Given the description of an element on the screen output the (x, y) to click on. 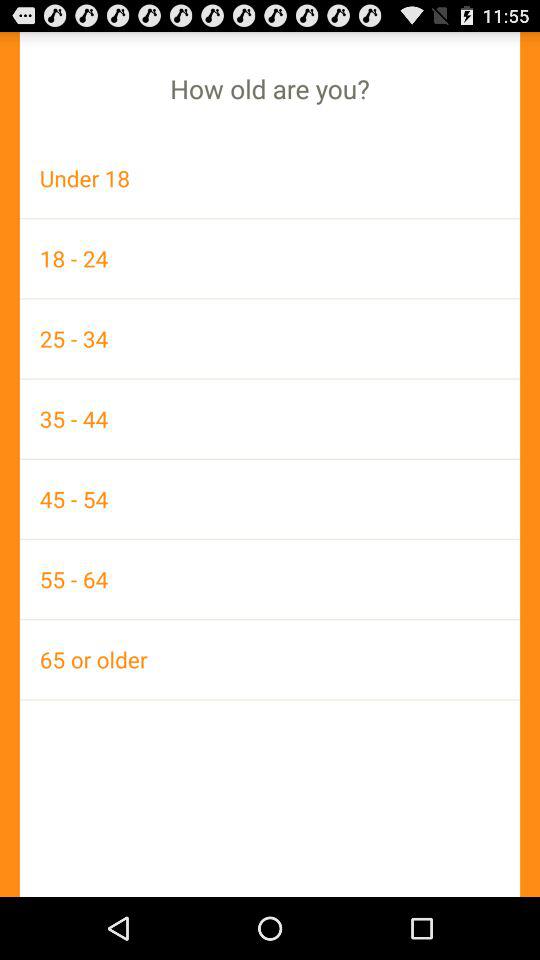
select item above the 45 - 54 item (269, 418)
